Given the description of an element on the screen output the (x, y) to click on. 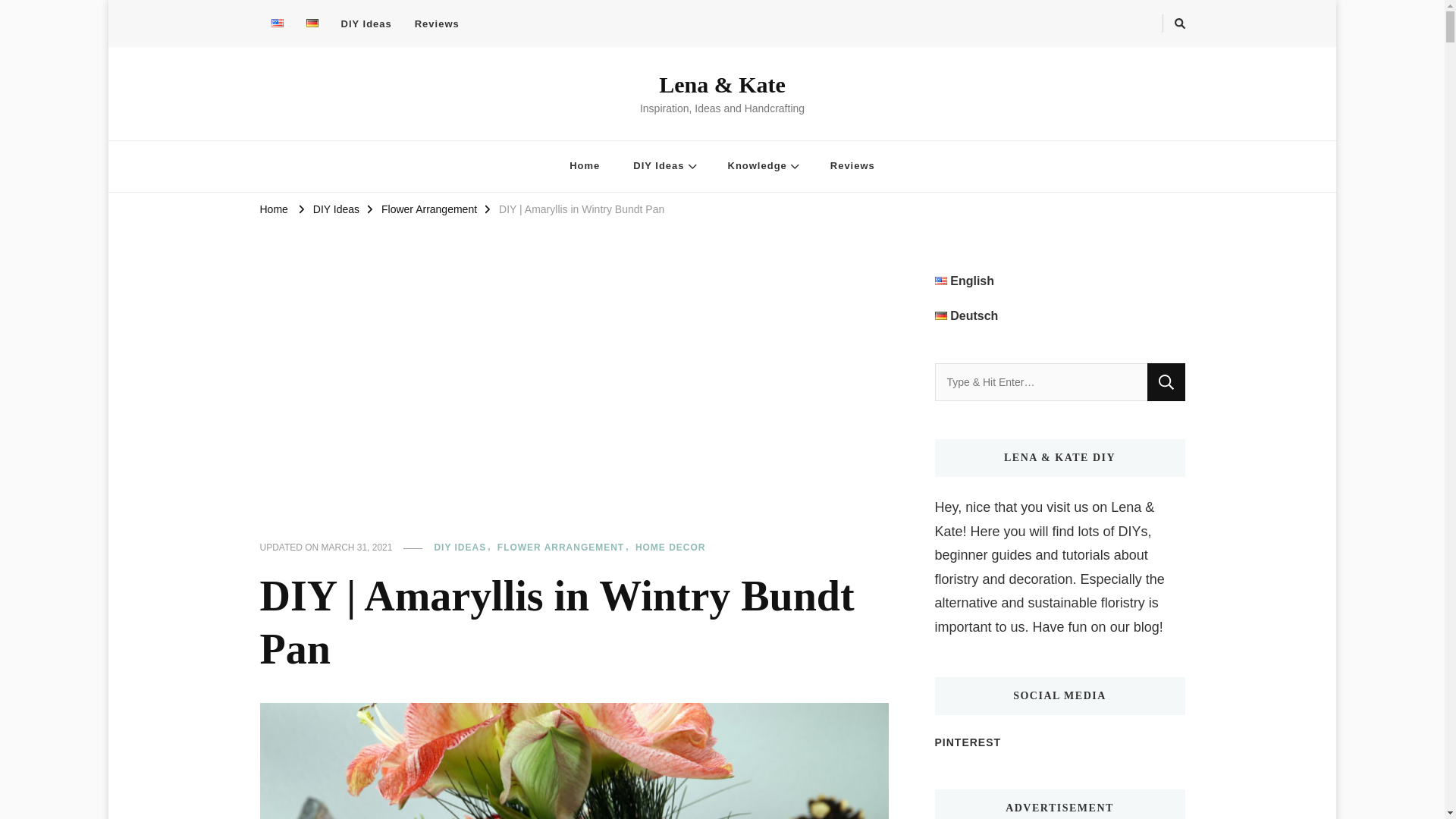
Home (584, 165)
DIY Ideas (366, 23)
Search (1166, 382)
Knowledge (762, 165)
FLOWER ARRANGEMENT (565, 548)
DIY Ideas (662, 165)
HOME DECOR (670, 548)
Advertisement (573, 404)
Reviews (436, 23)
Reviews (852, 165)
